Given the description of an element on the screen output the (x, y) to click on. 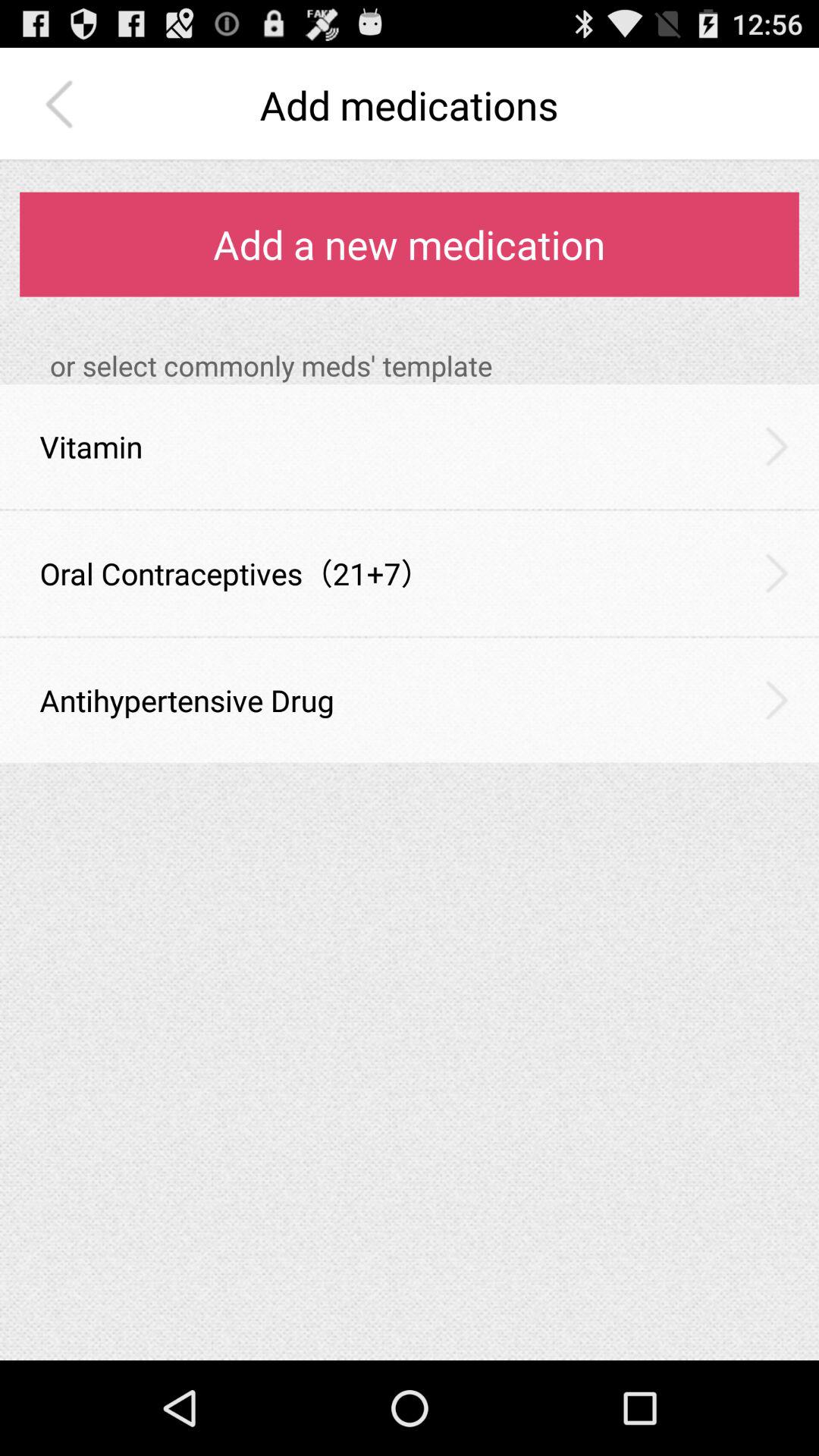
open the app above the or select commonly app (409, 244)
